Given the description of an element on the screen output the (x, y) to click on. 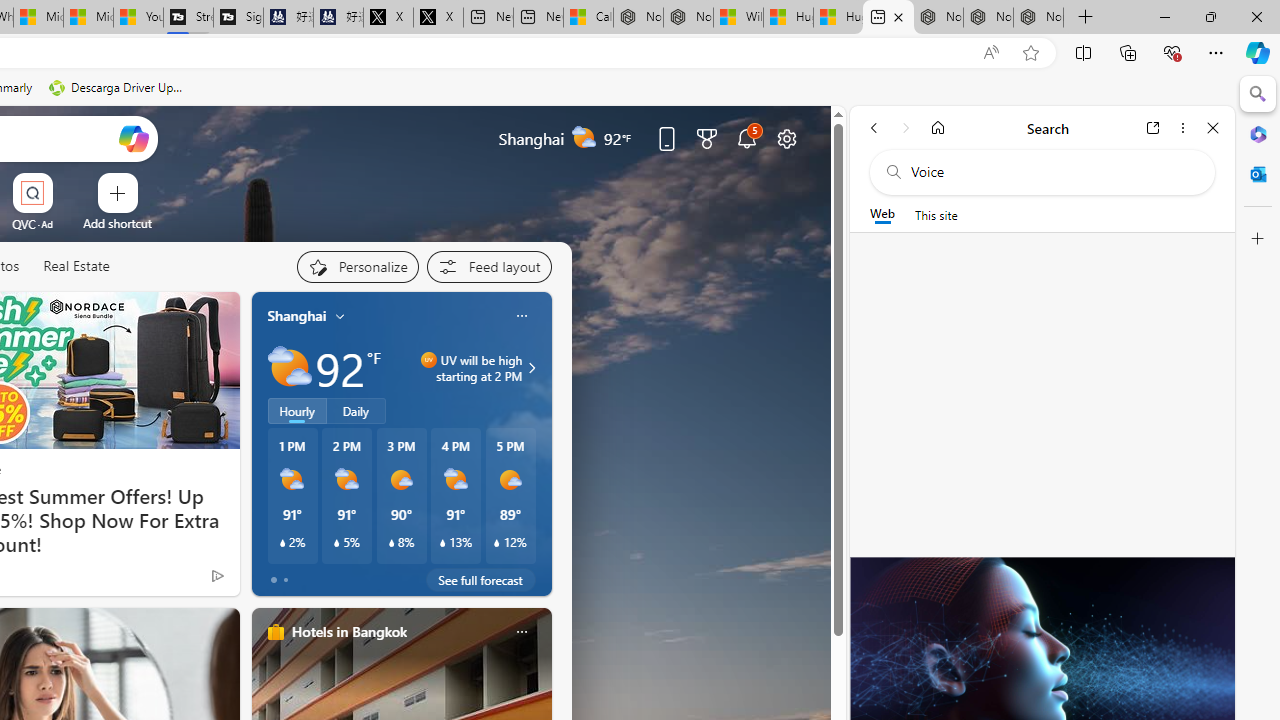
Descarga Driver Updater (118, 88)
Nordace - Best Sellers (937, 17)
Outlook (1258, 174)
Shanghai (296, 315)
Daily (356, 411)
Add a site (117, 223)
This site scope (936, 215)
